Given the description of an element on the screen output the (x, y) to click on. 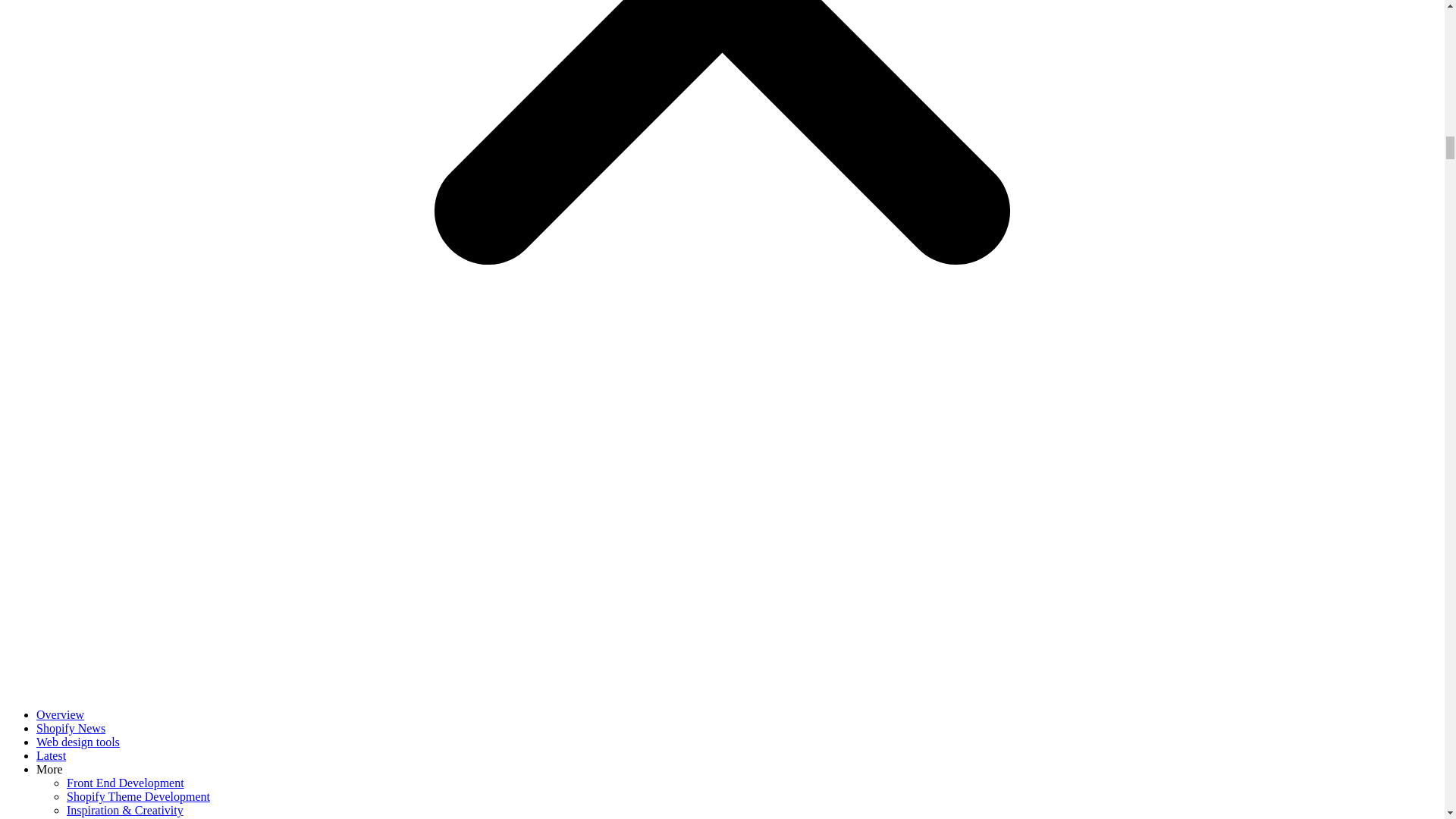
Front End Development (125, 782)
Web design tools (77, 741)
Shopify News (70, 727)
Finding New Clients (116, 818)
Overview (60, 714)
Shopify Theme Development (137, 796)
Latest (50, 755)
